Given the description of an element on the screen output the (x, y) to click on. 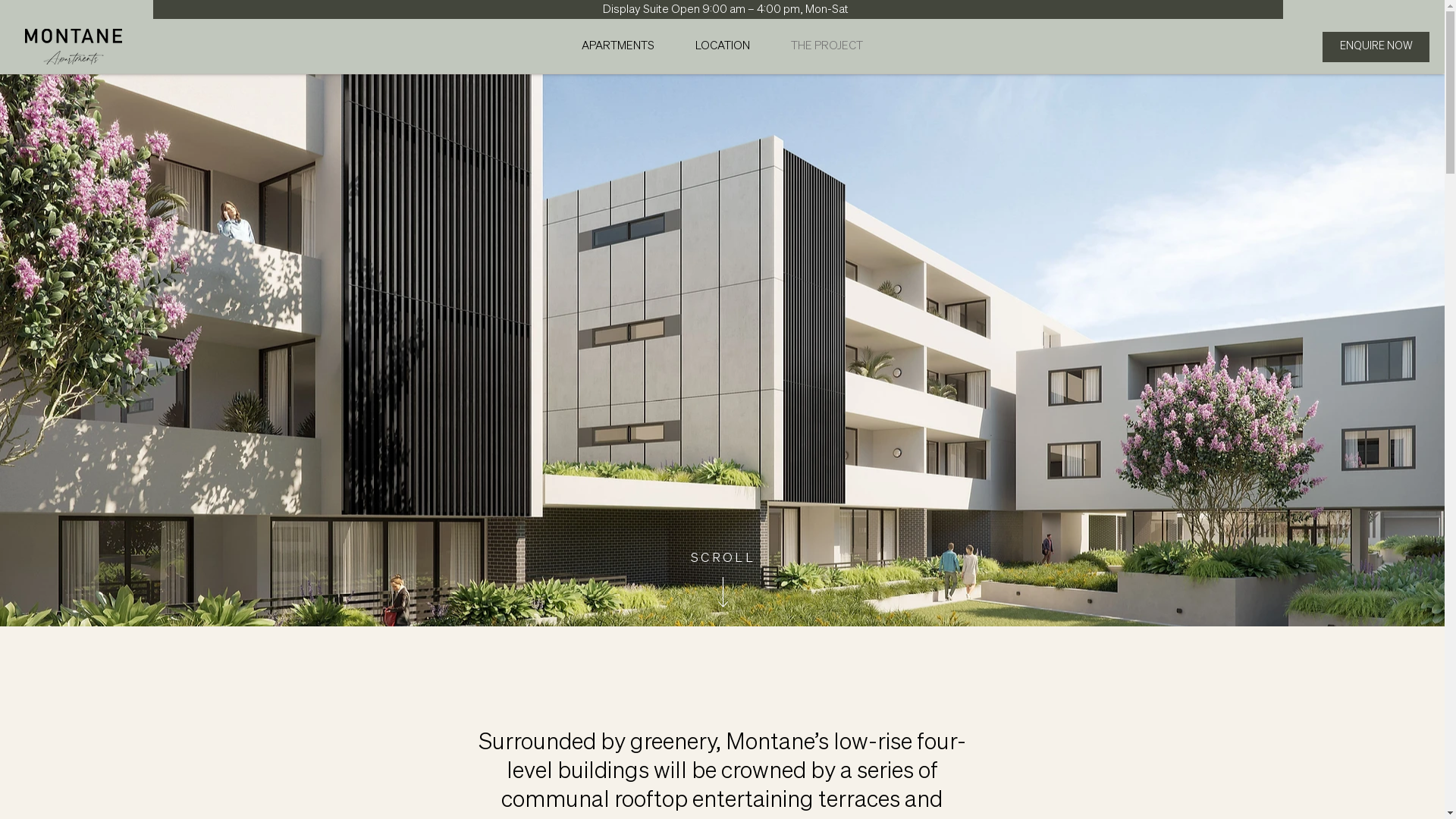
LOCATION Element type: text (722, 46)
ENQUIRE NOW Element type: text (1375, 46)
APARTMENTS Element type: text (617, 46)
THE PROJECT Element type: text (826, 46)
SCROLL Element type: text (722, 556)
